Given the description of an element on the screen output the (x, y) to click on. 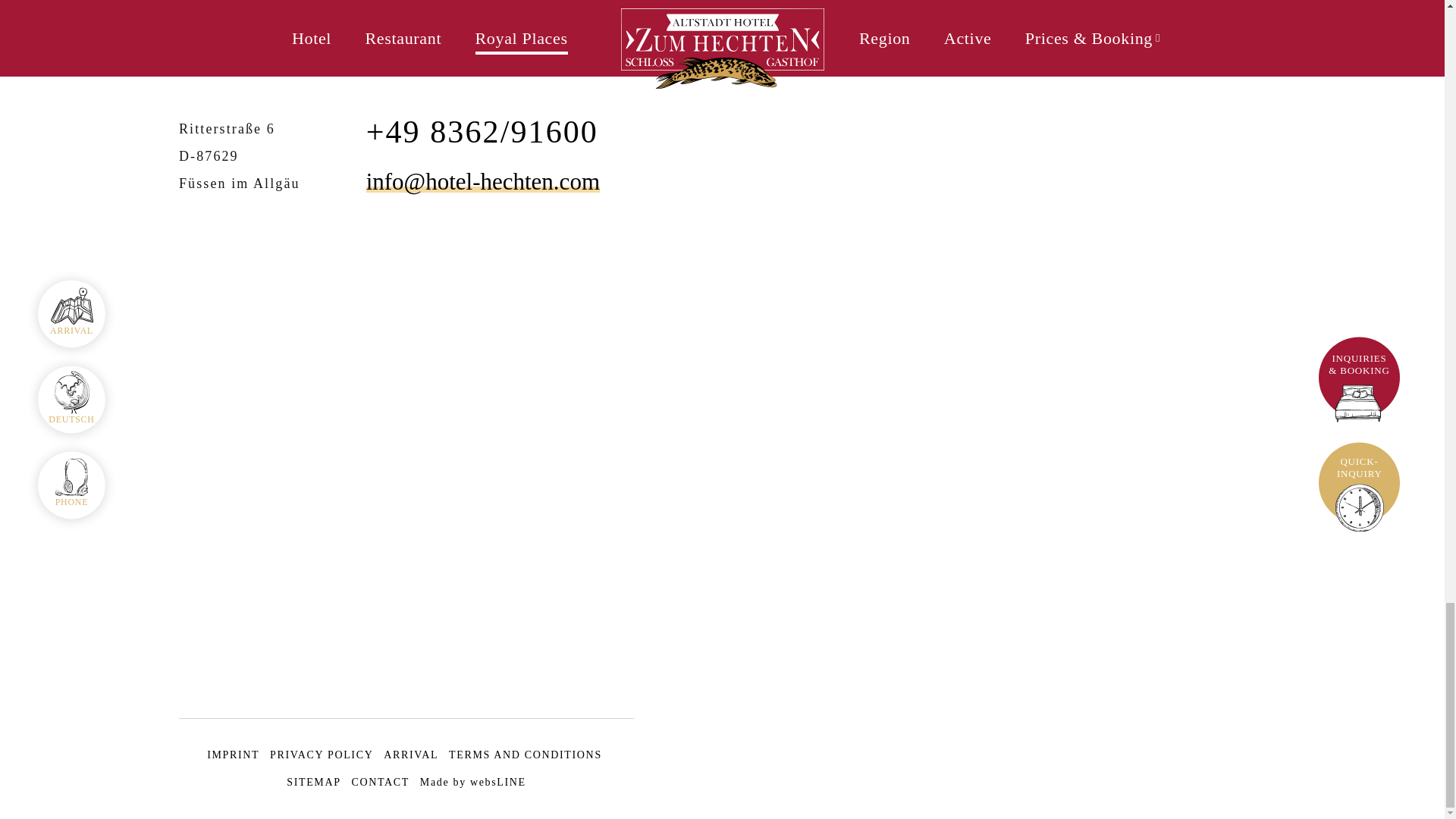
Made by websLINE (472, 781)
SITEMAP (313, 781)
IMPRINT (232, 754)
PRIVACY POLICY (320, 754)
Email Adresse (482, 181)
CONTACT (379, 781)
ARRIVAL (411, 754)
TERMS AND CONDITIONS (525, 754)
